Given the description of an element on the screen output the (x, y) to click on. 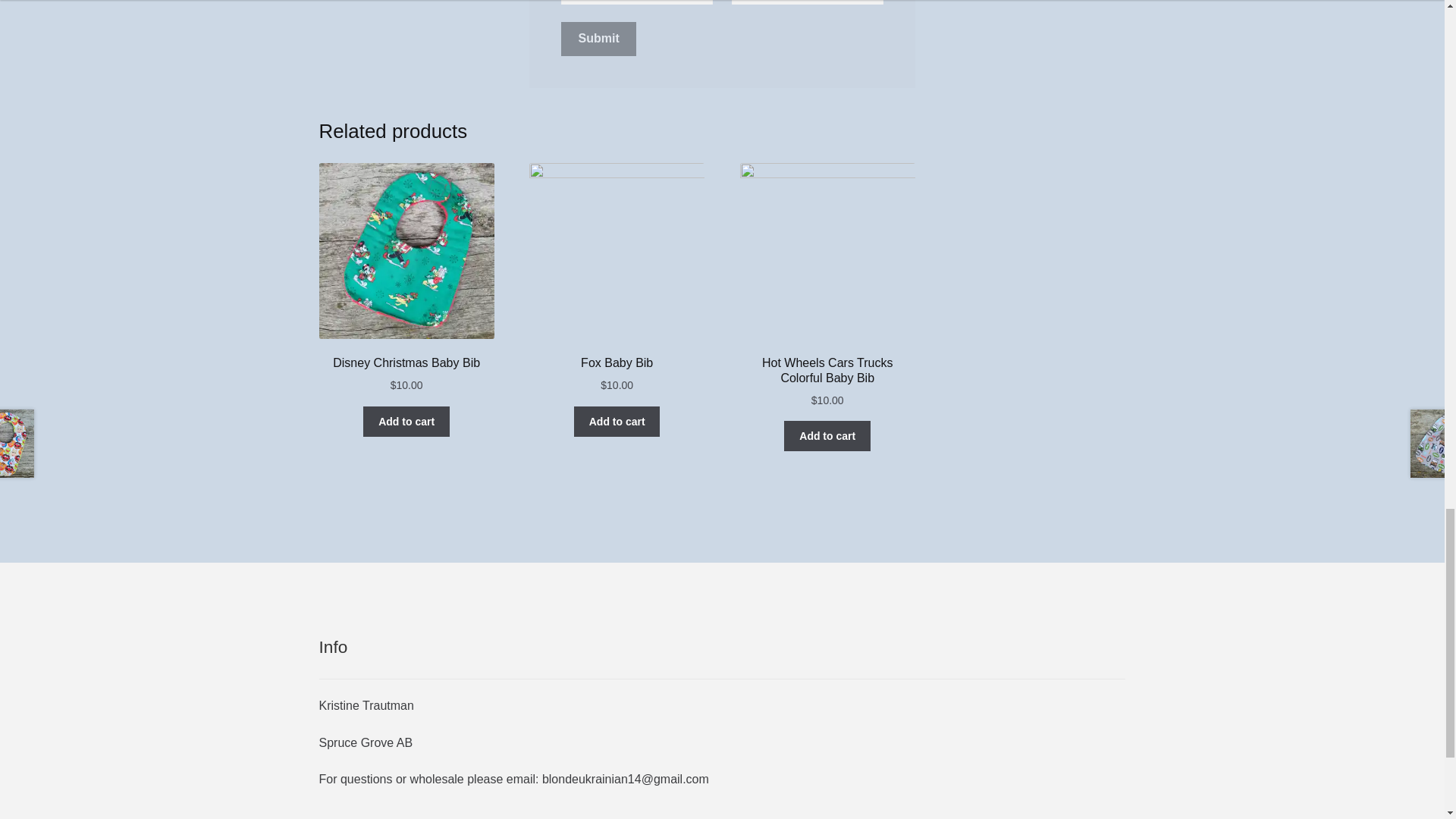
Add to cart (827, 435)
Submit (598, 39)
Submit (598, 39)
Add to cart (405, 421)
Add to cart (617, 421)
